Given the description of an element on the screen output the (x, y) to click on. 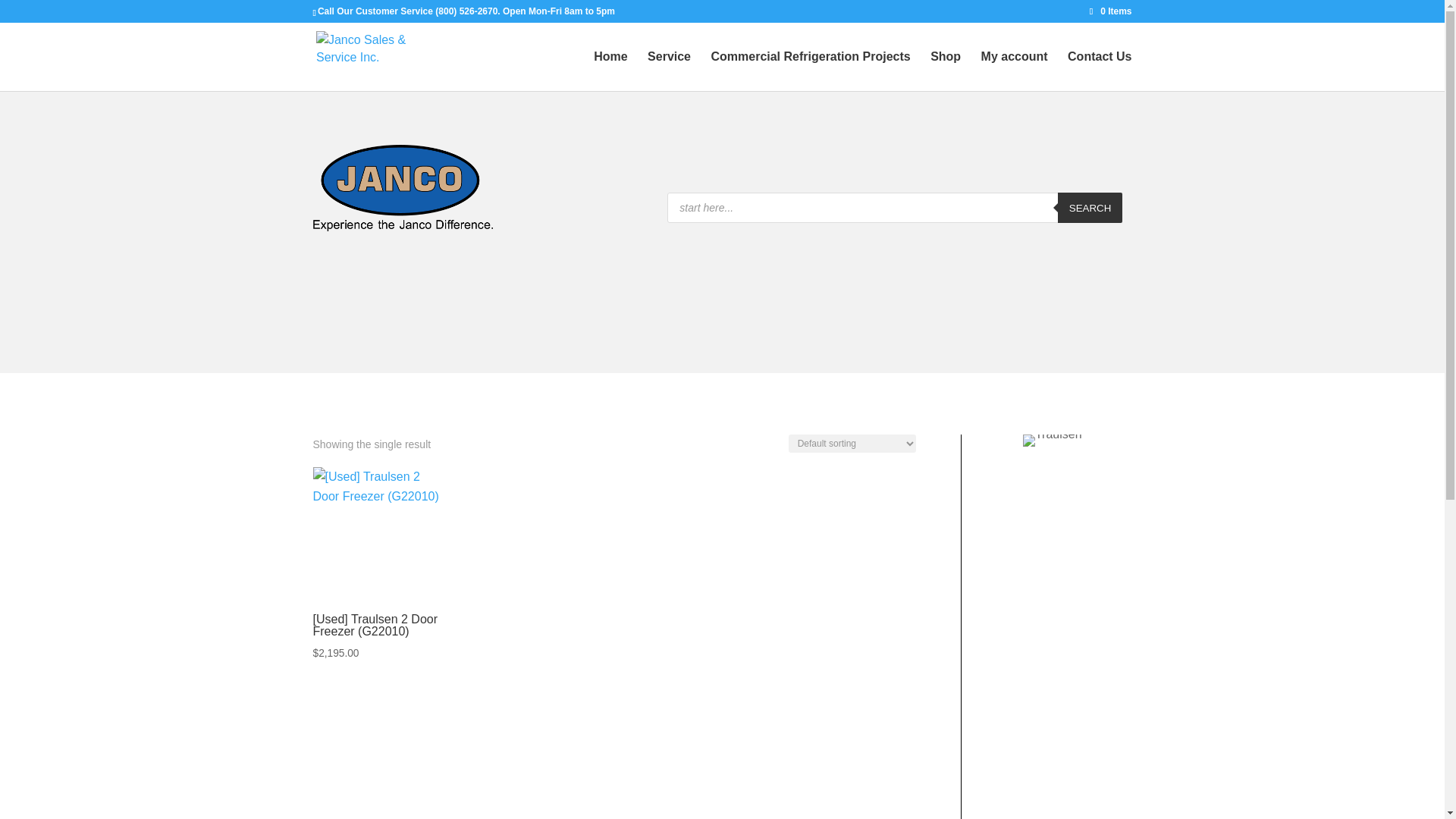
My account (1014, 70)
0 Items (1110, 10)
Traulsen (1052, 440)
Home (610, 70)
Service (668, 70)
Contact Us (1099, 70)
Commercial Refrigeration Projects (810, 70)
SEARCH (1090, 207)
Shop (945, 70)
